Given the description of an element on the screen output the (x, y) to click on. 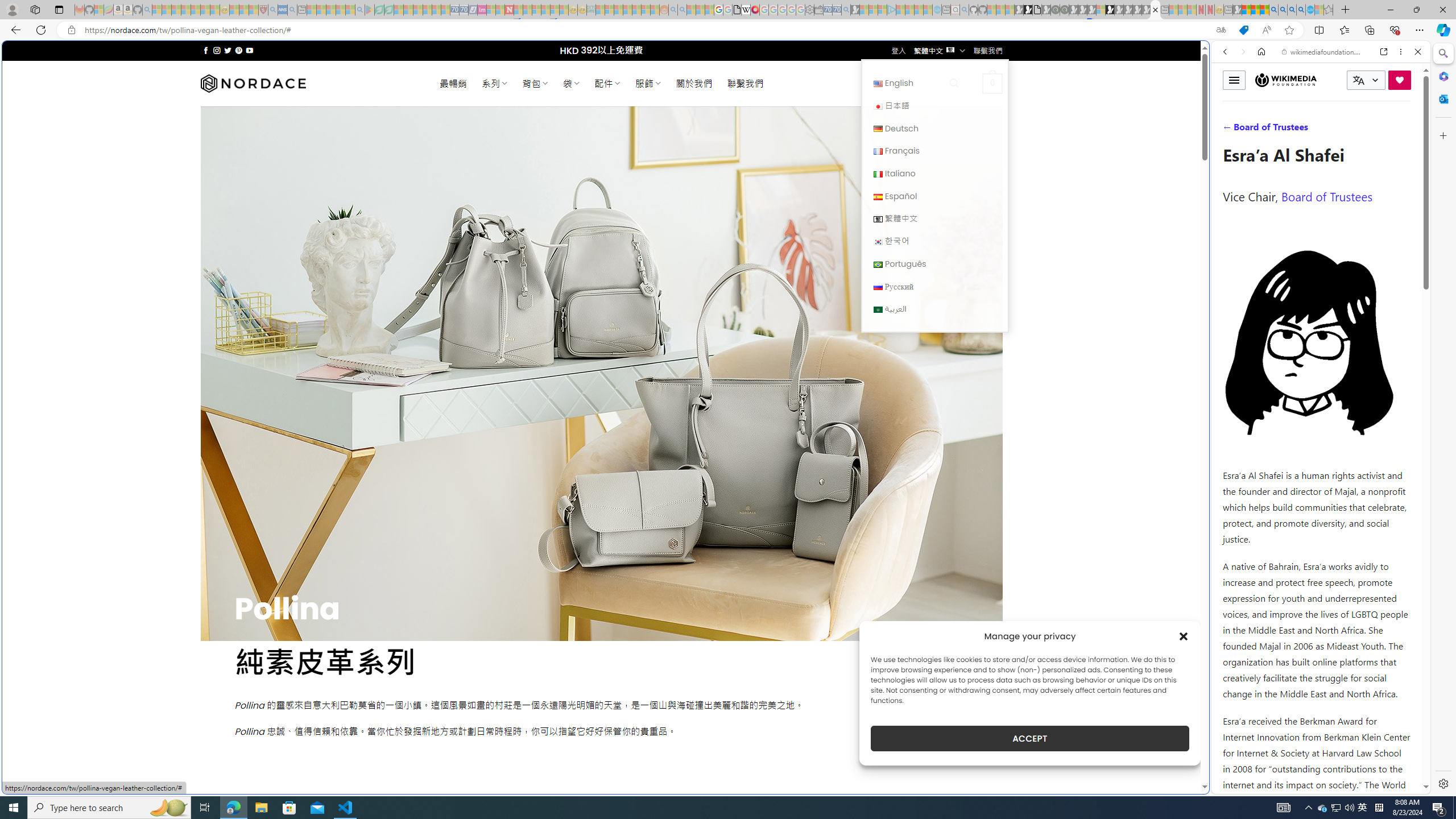
CURRENT LANGUAGE: (1366, 80)
